Given the description of an element on the screen output the (x, y) to click on. 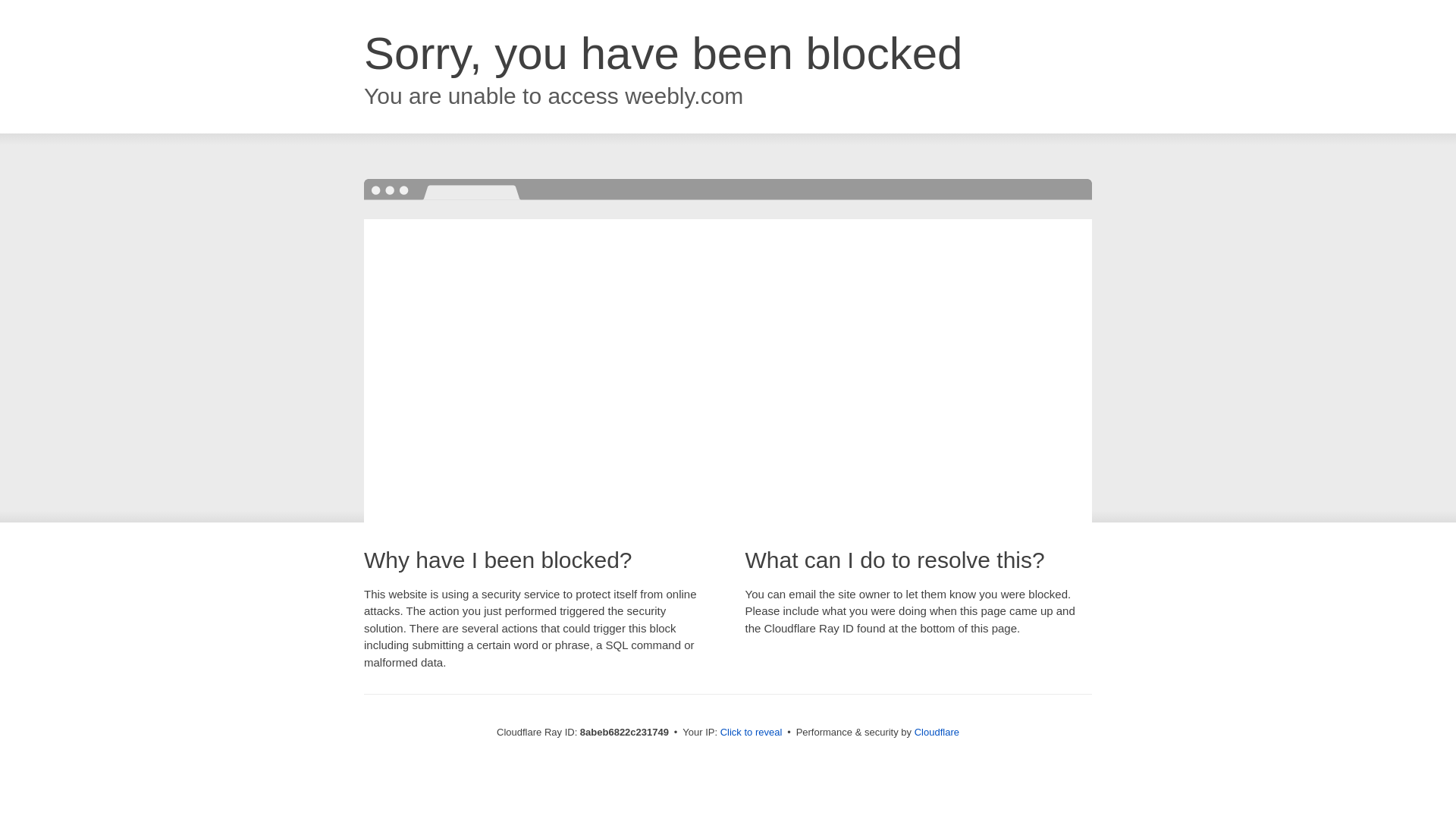
Click to reveal (751, 732)
Cloudflare (936, 731)
